Given the description of an element on the screen output the (x, y) to click on. 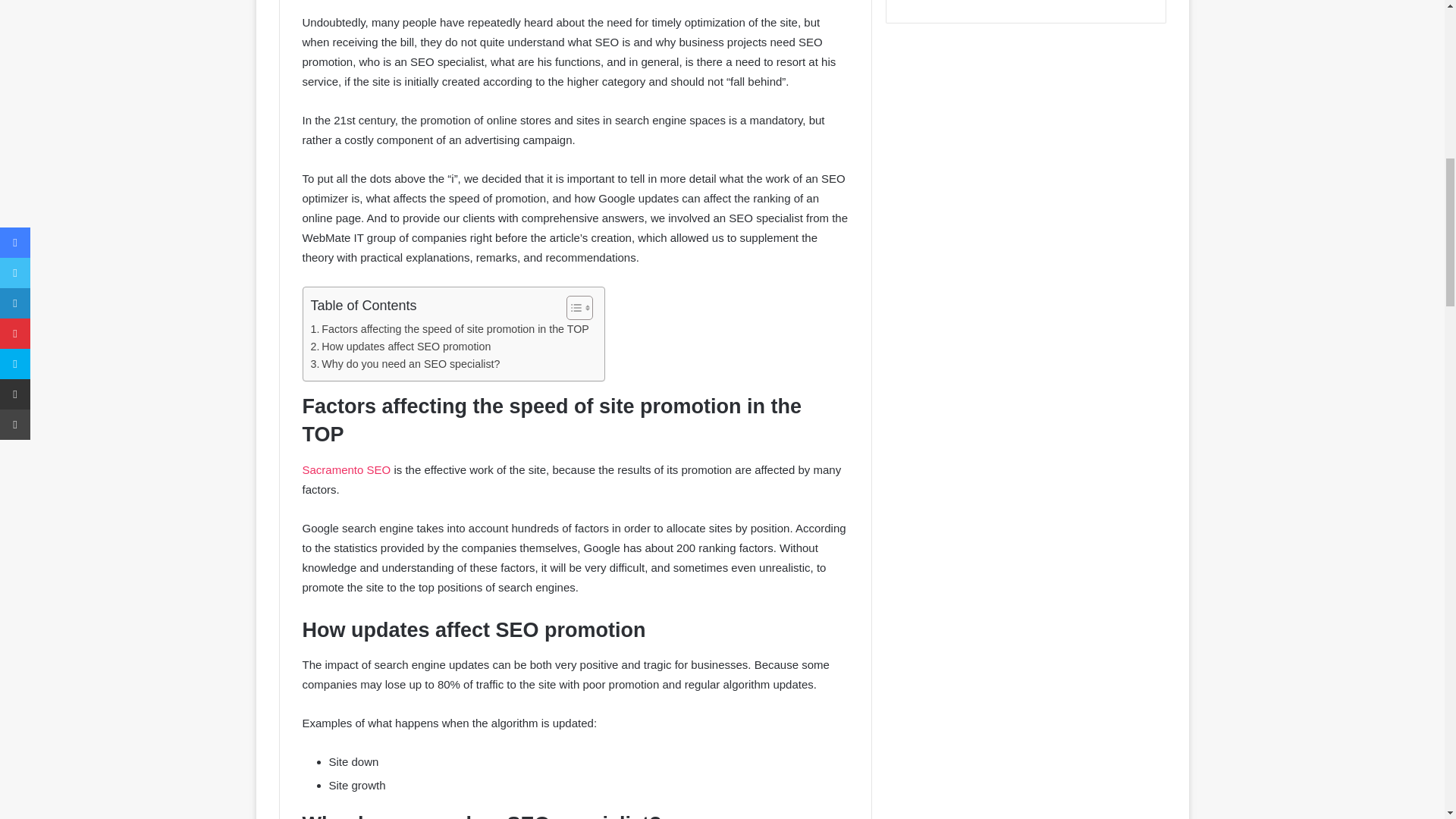
How updates affect SEO promotion (401, 346)
Factors affecting the speed of site promotion in the TOP (450, 329)
Why do you need an SEO specialist? (405, 364)
How updates affect SEO promotion (401, 346)
Sacramento SEO (345, 469)
Why do you need an SEO specialist? (405, 364)
Factors affecting the speed of site promotion in the TOP (450, 329)
